Given the description of an element on the screen output the (x, y) to click on. 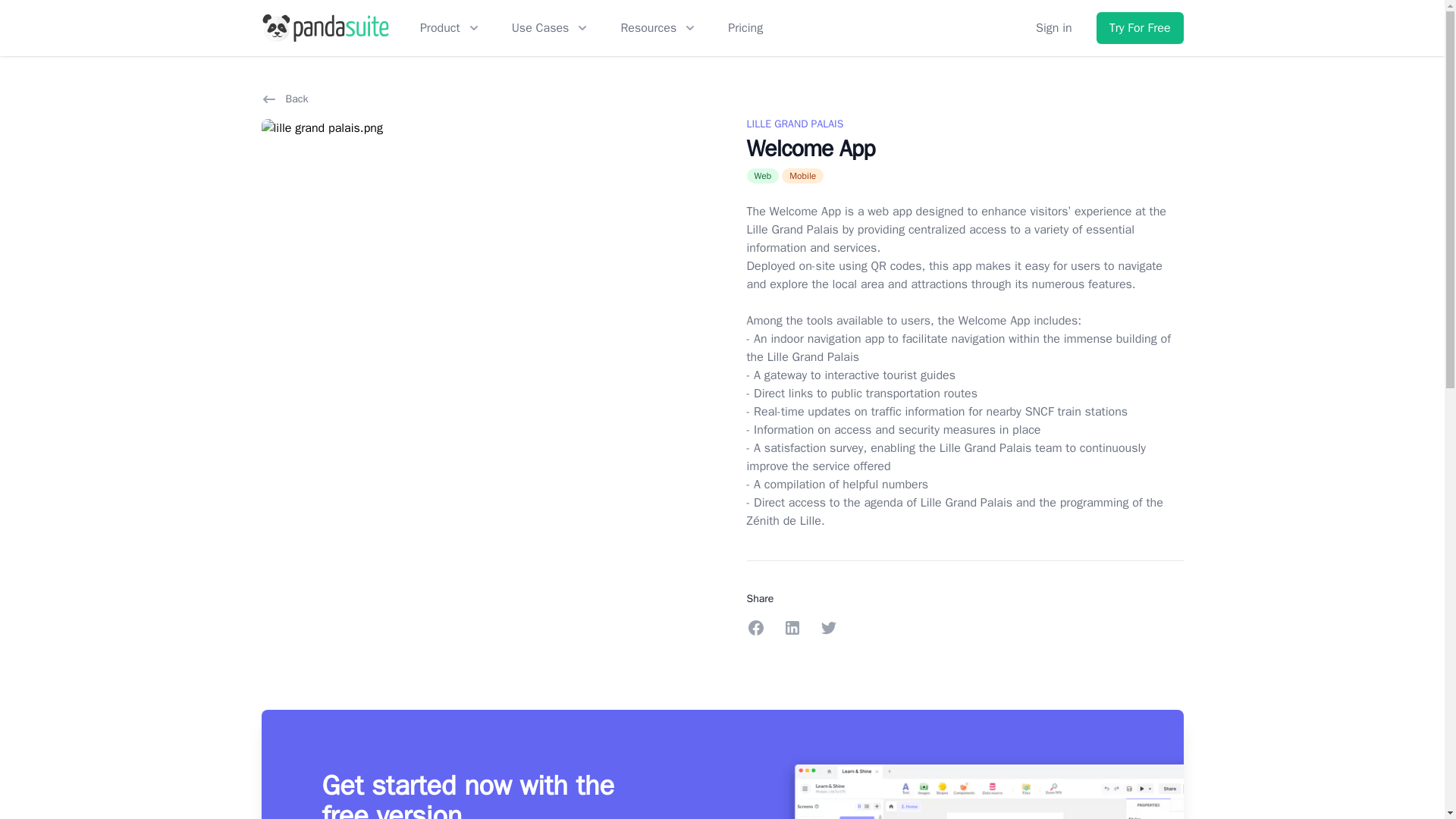
Share on LinkedIn (791, 628)
Share on Twitter (827, 628)
Sign in (1053, 27)
Resources (658, 27)
Try For Free (1139, 28)
Share on Facebook (754, 628)
Pricing (745, 27)
Product (450, 27)
PandaSuite (324, 27)
Back (285, 98)
Use Cases (551, 27)
